Given the description of an element on the screen output the (x, y) to click on. 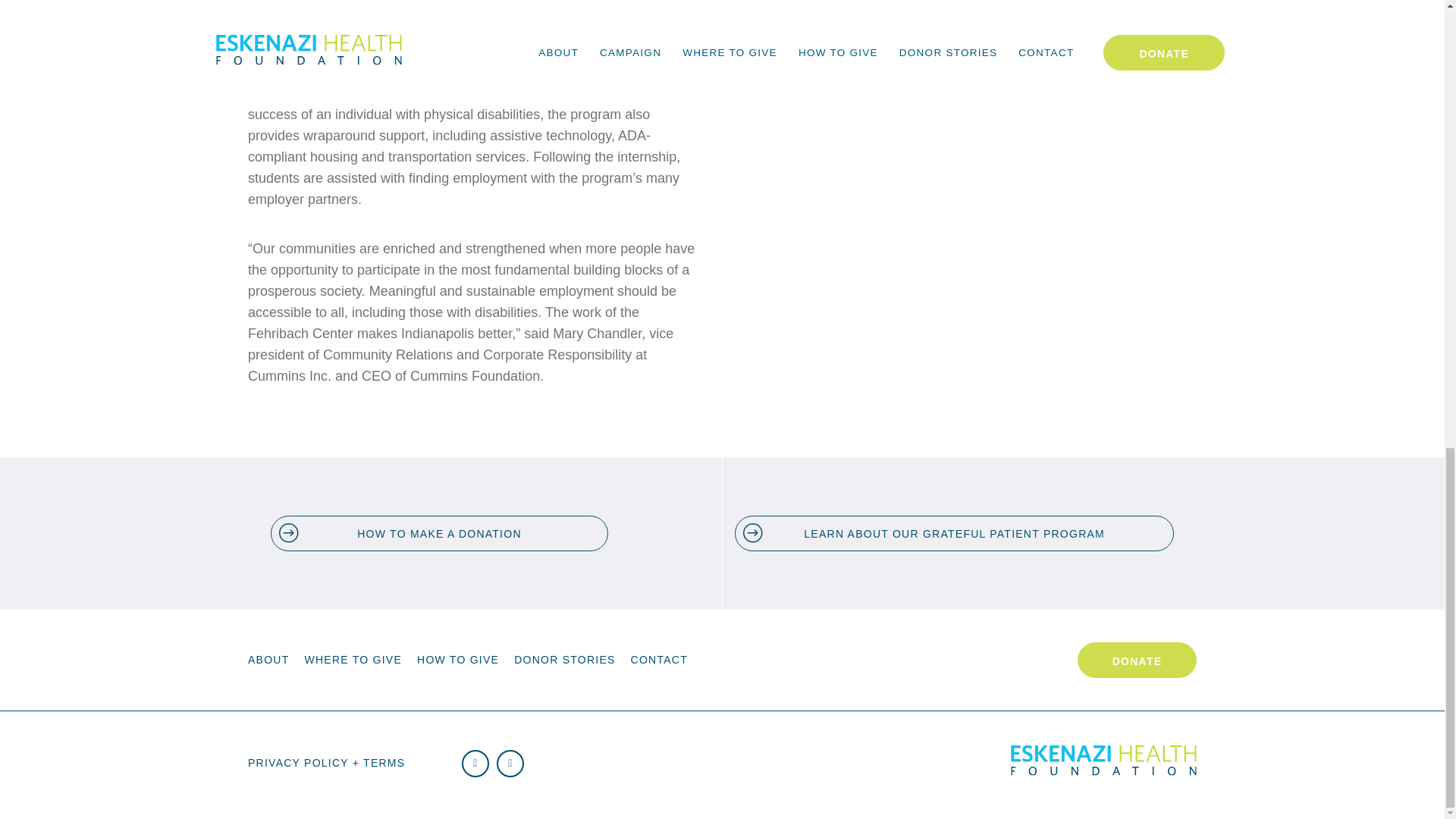
ABOUT (267, 659)
Learn about our Grateful Patient Program (954, 533)
PRIVACY POLICY (325, 762)
HOW TO GIVE (457, 659)
LEARN ABOUT OUR GRATEFUL PATIENT PROGRAM (954, 533)
Eskenazi Health (1103, 771)
HOW TO MAKE A DONATION (439, 533)
how to make a donation (439, 533)
WHERE TO GIVE (352, 659)
